Given the description of an element on the screen output the (x, y) to click on. 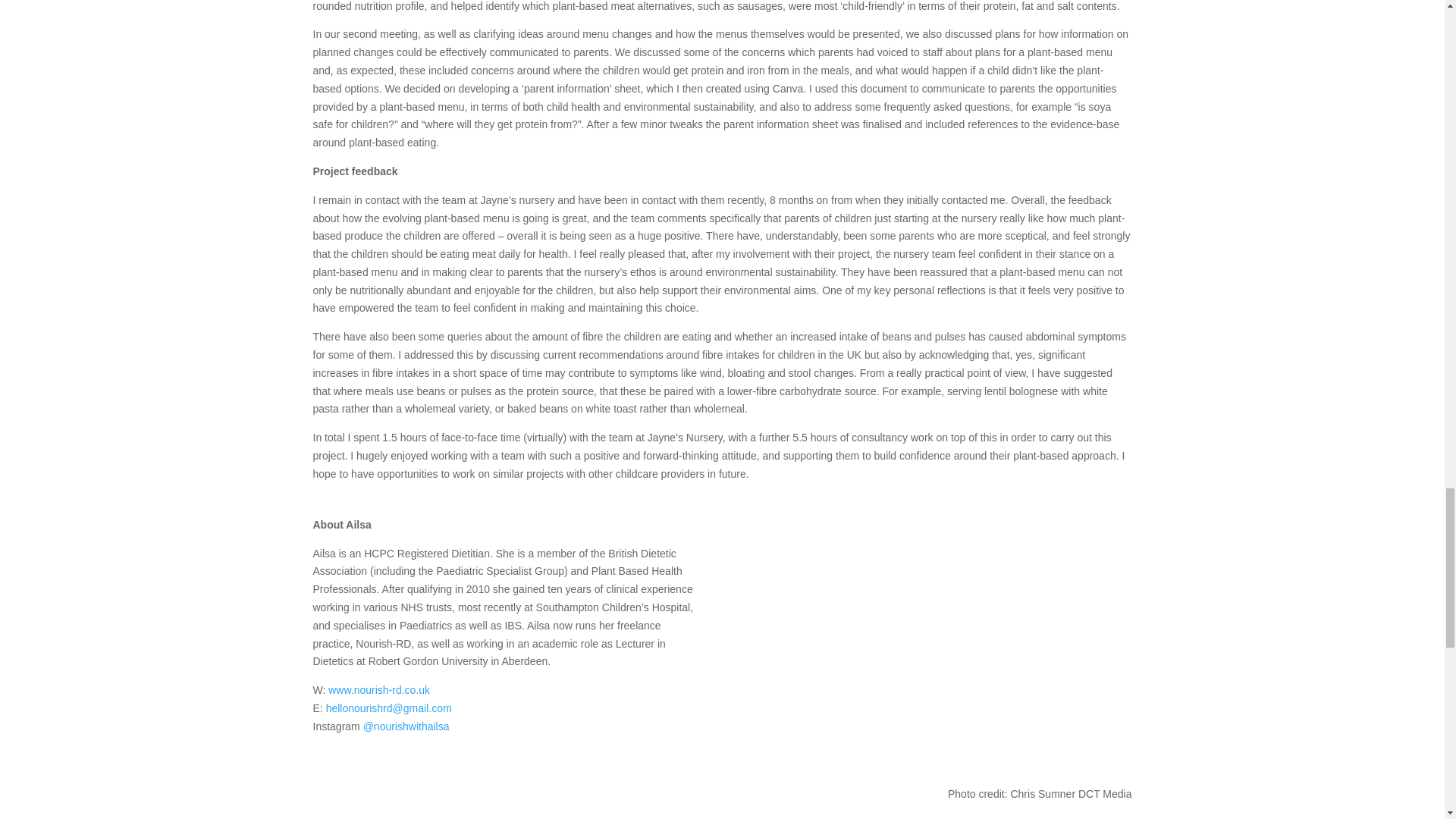
AilsaMcHardy (937, 650)
